Given the description of an element on the screen output the (x, y) to click on. 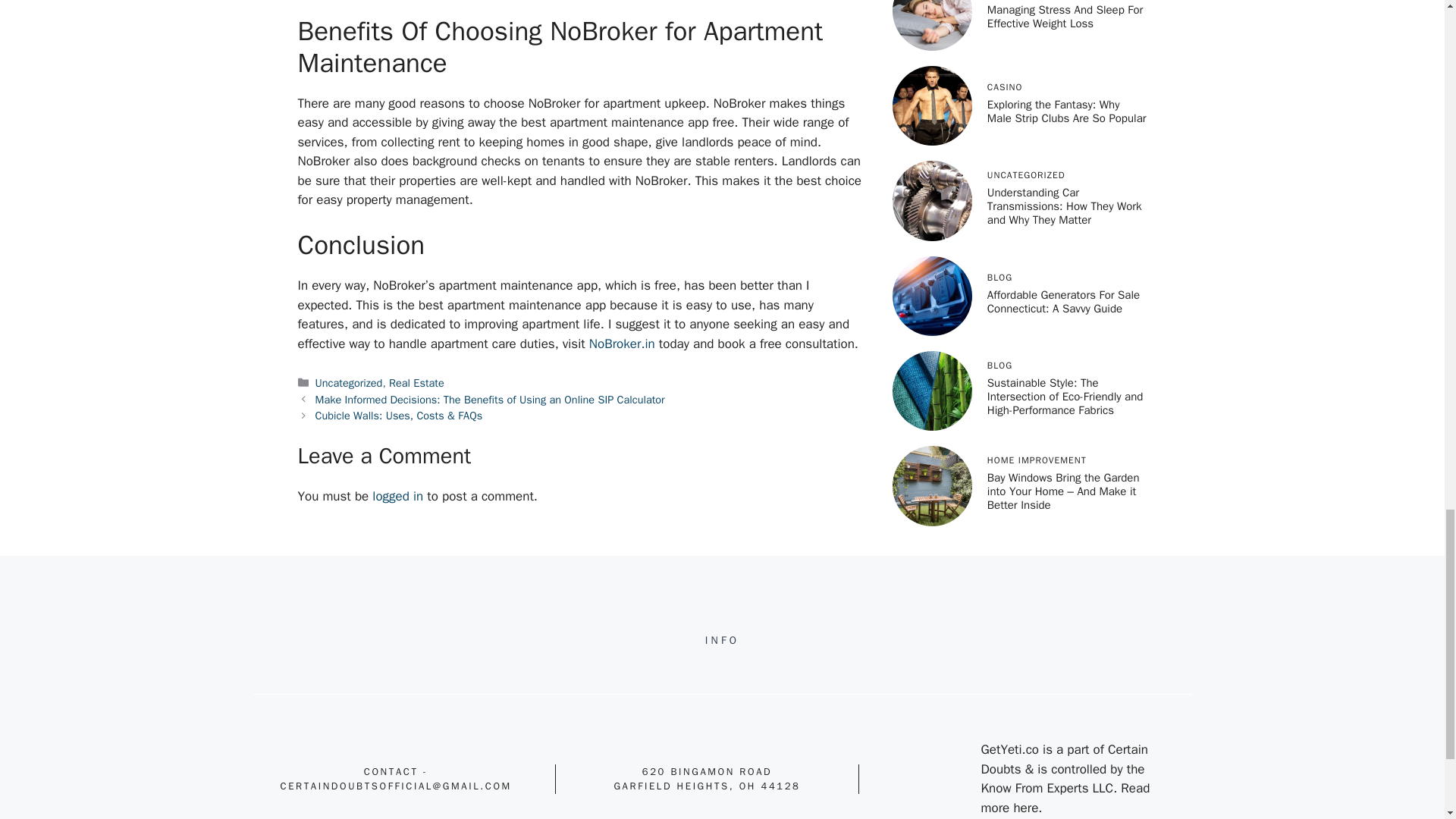
logged in (397, 496)
Real Estate (416, 382)
Uncategorized (348, 382)
NoBroker.in (622, 342)
